Given the description of an element on the screen output the (x, y) to click on. 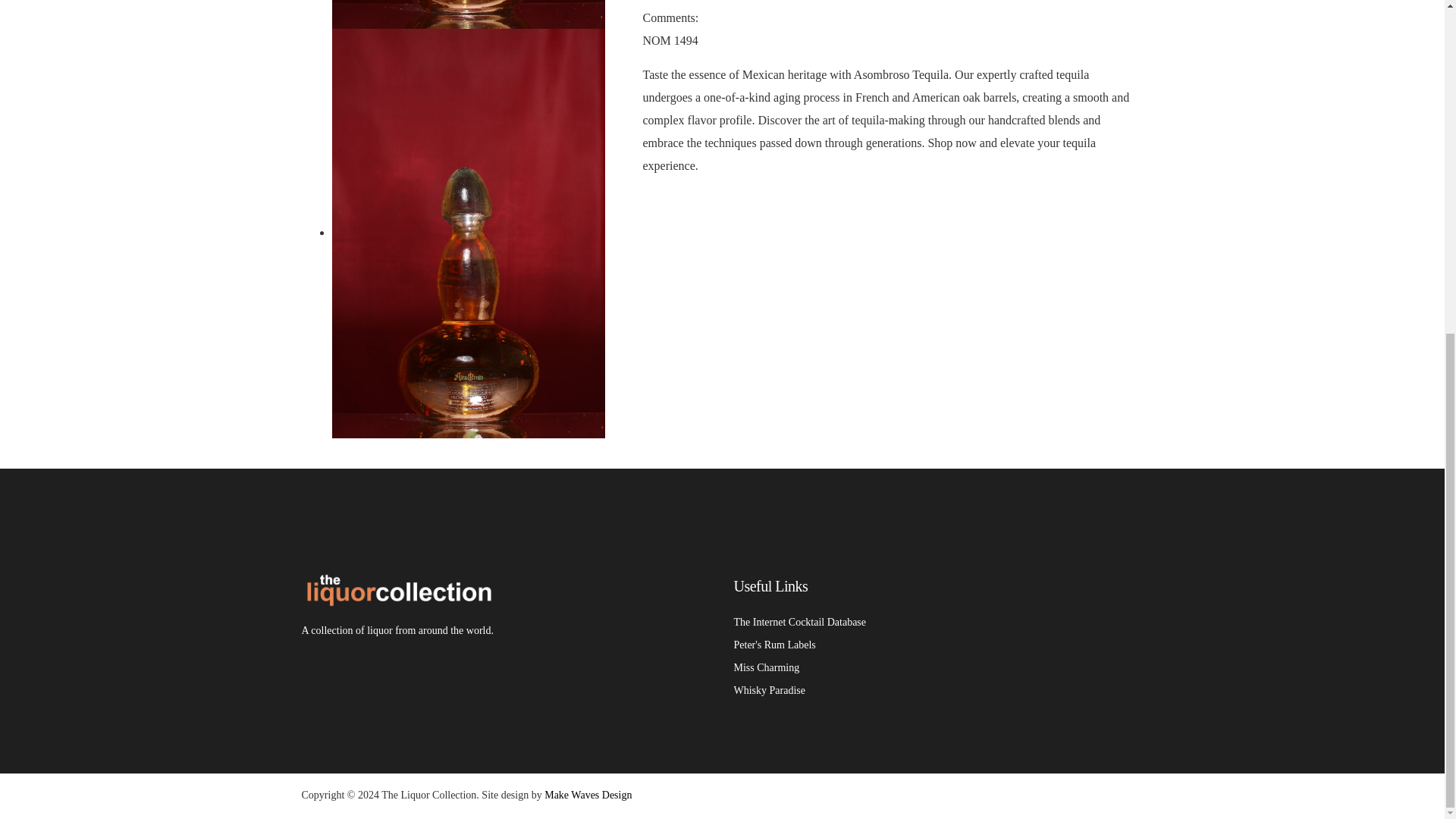
Make Waves Design (587, 794)
Whisky Paradise (769, 690)
The Internet Cocktail Database (799, 622)
Peter's Rum Labels (774, 644)
Miss Charming (766, 667)
The Liquor Collection (398, 595)
